Given the description of an element on the screen output the (x, y) to click on. 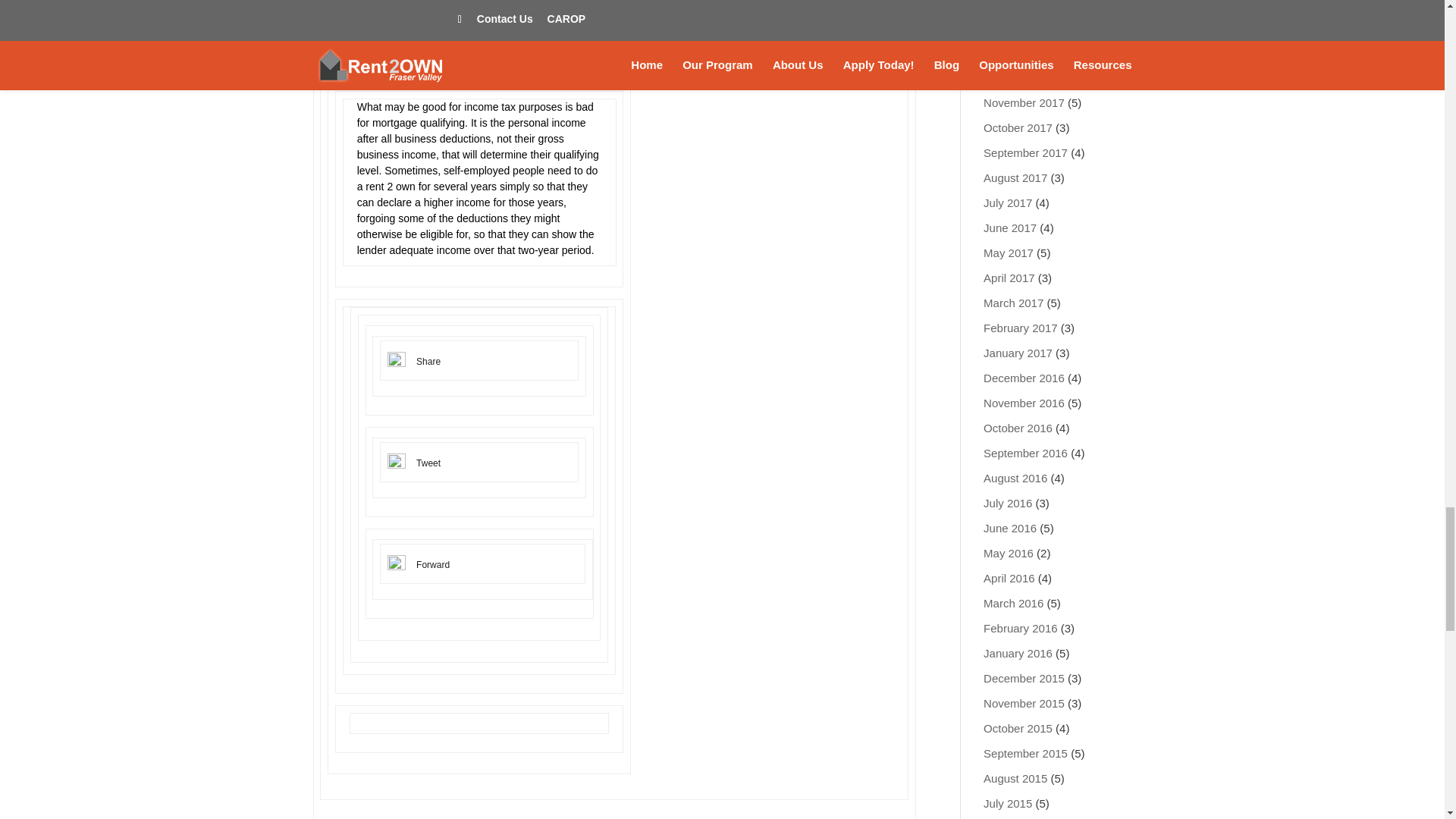
Forward (432, 564)
Share (428, 361)
Tweet (428, 462)
